Given the description of an element on the screen output the (x, y) to click on. 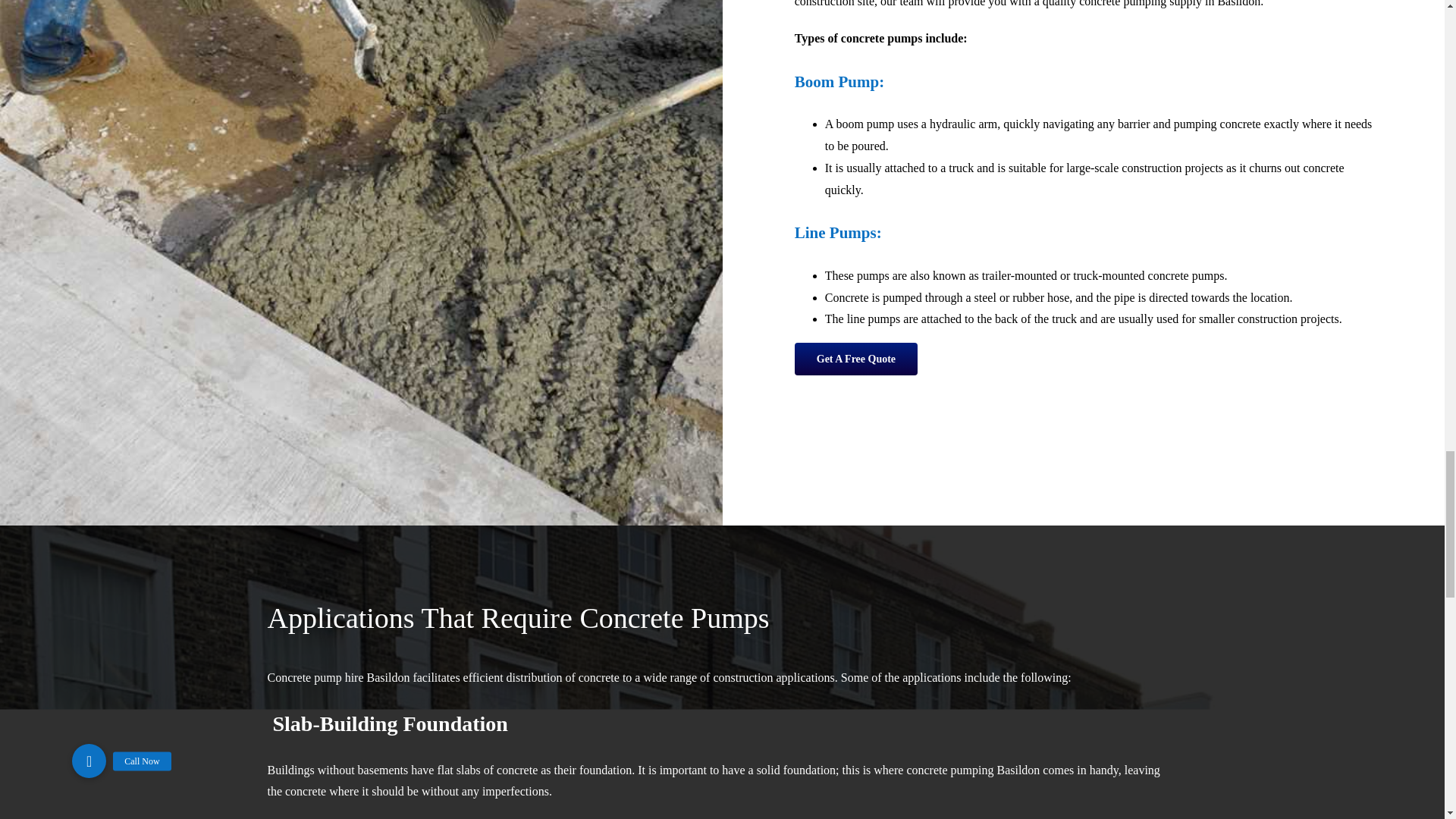
Get A Free Quote (855, 359)
